Given the description of an element on the screen output the (x, y) to click on. 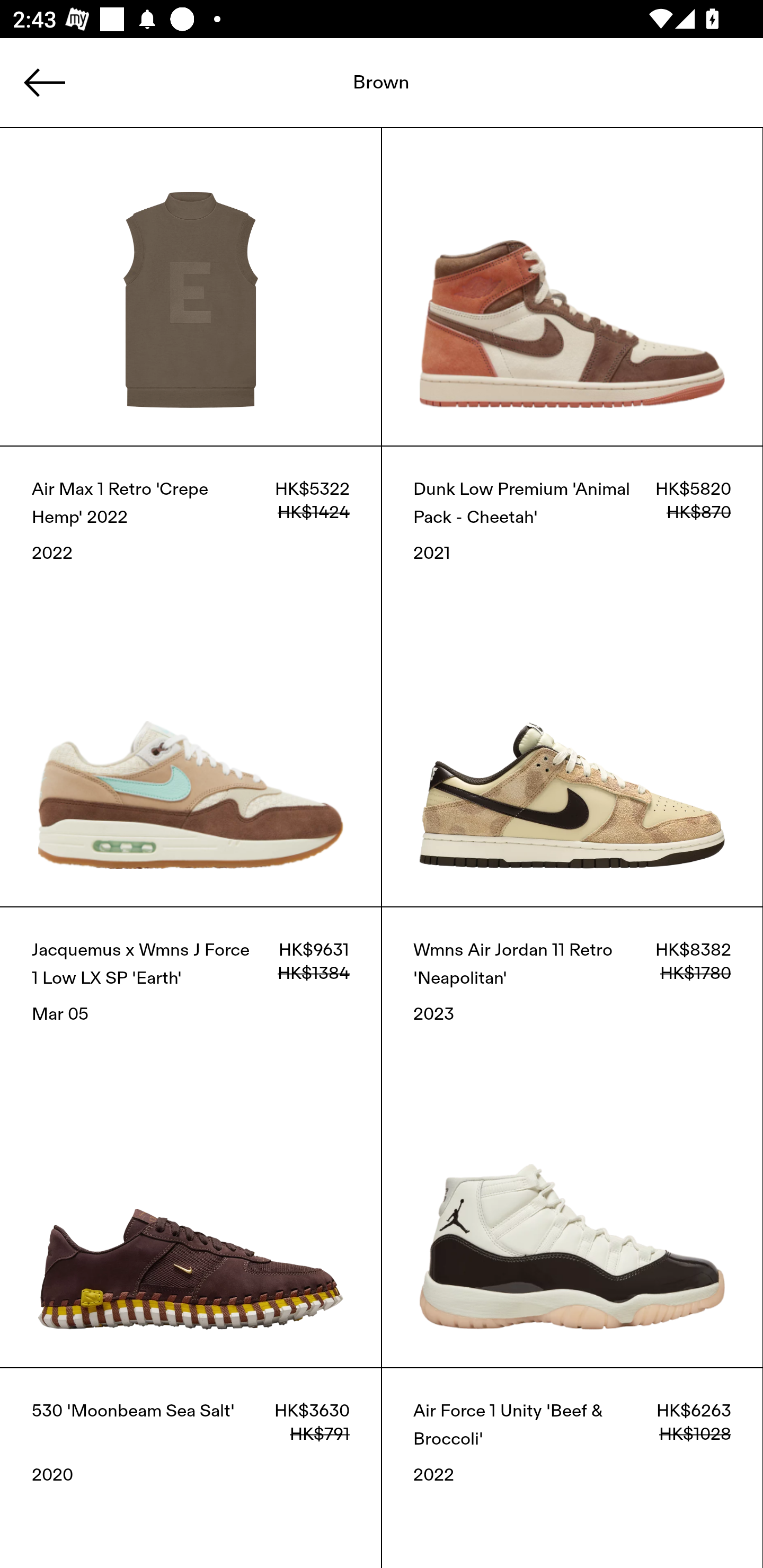
530 'Moonbeam Sea Salt' HK$3630 HK$791 2020 (190, 1467)
